Given the description of an element on the screen output the (x, y) to click on. 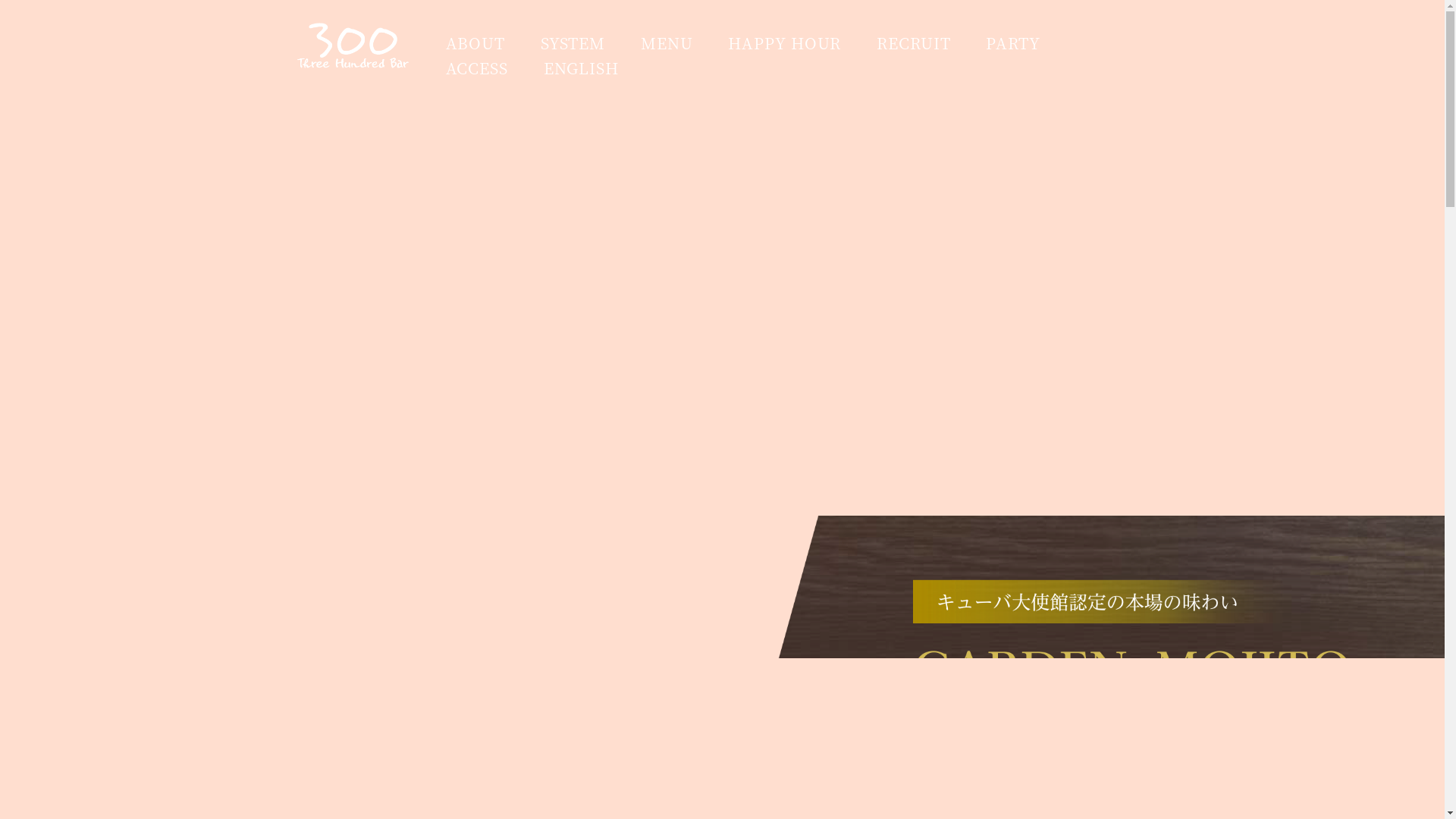
RECRUIT Element type: text (913, 43)
ACCESS Element type: text (476, 68)
SYSTEM Element type: text (572, 43)
ABOUT Element type: text (475, 43)
MENU Element type: text (666, 43)
ENGLISH Element type: text (581, 68)
HAPPY HOUR Element type: text (784, 43)
PARTY Element type: text (1013, 43)
